Given the description of an element on the screen output the (x, y) to click on. 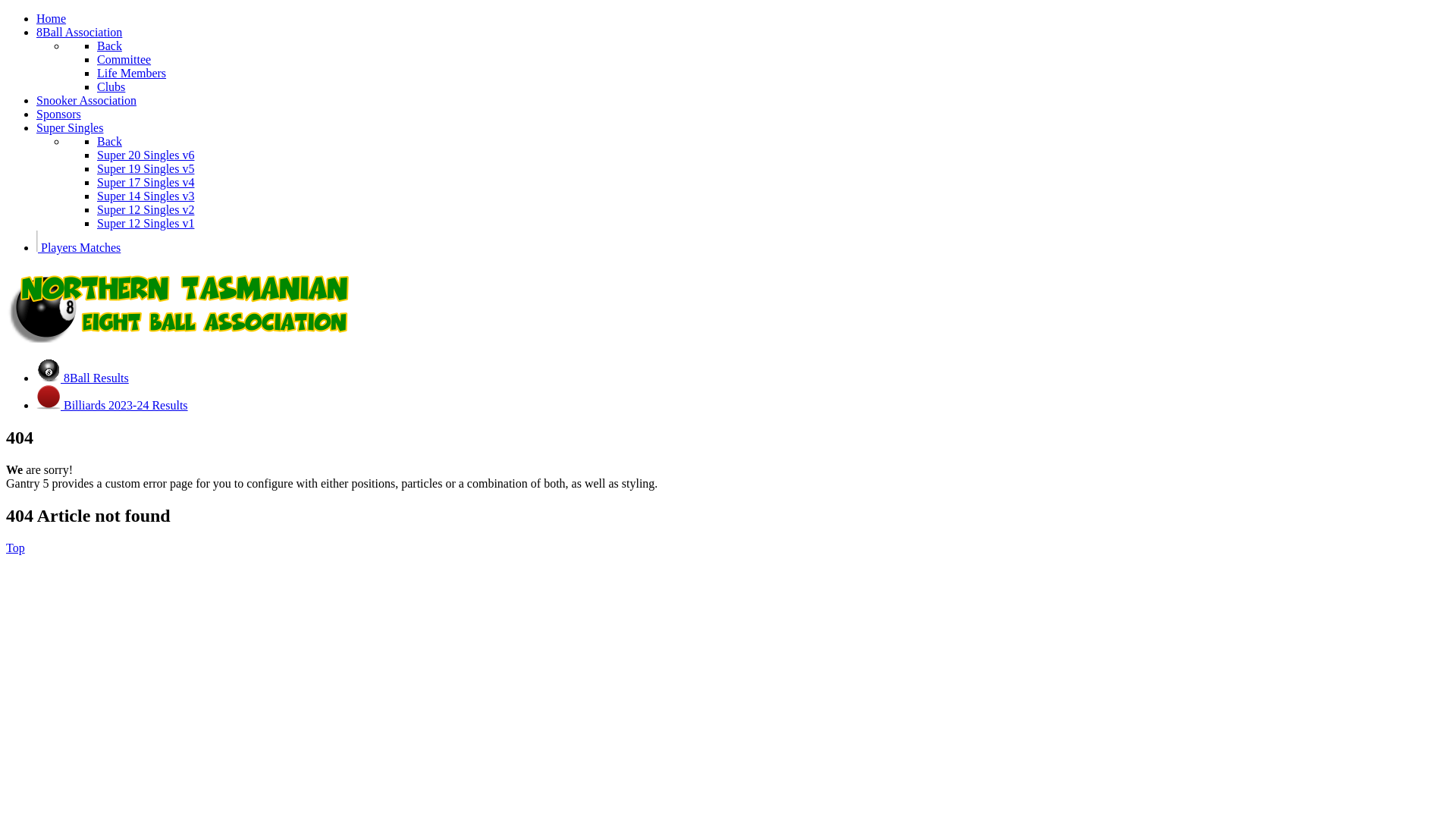
Home Element type: text (50, 18)
Super 14 Singles v3 Element type: text (145, 195)
Top Element type: text (15, 547)
Billiards 2023-24 Results Element type: text (112, 404)
NTEBA Element type: hover (183, 338)
Back Element type: text (109, 140)
Sponsors Element type: text (58, 113)
Super 12 Singles v2 Element type: text (145, 209)
Super 12 Singles v1 Element type: text (145, 222)
Super Singles Element type: text (69, 127)
Super 17 Singles v4 Element type: text (145, 181)
Clubs Element type: text (111, 86)
8Ball Results Element type: text (82, 377)
Snooker Association Element type: text (86, 100)
Players Matches Element type: text (78, 247)
Super 20 Singles v6 Element type: text (145, 154)
Committee Element type: text (123, 59)
Life Members Element type: text (131, 72)
Super 19 Singles v5 Element type: text (145, 168)
8Ball Association Element type: text (79, 31)
Back Element type: text (109, 45)
